Given the description of an element on the screen output the (x, y) to click on. 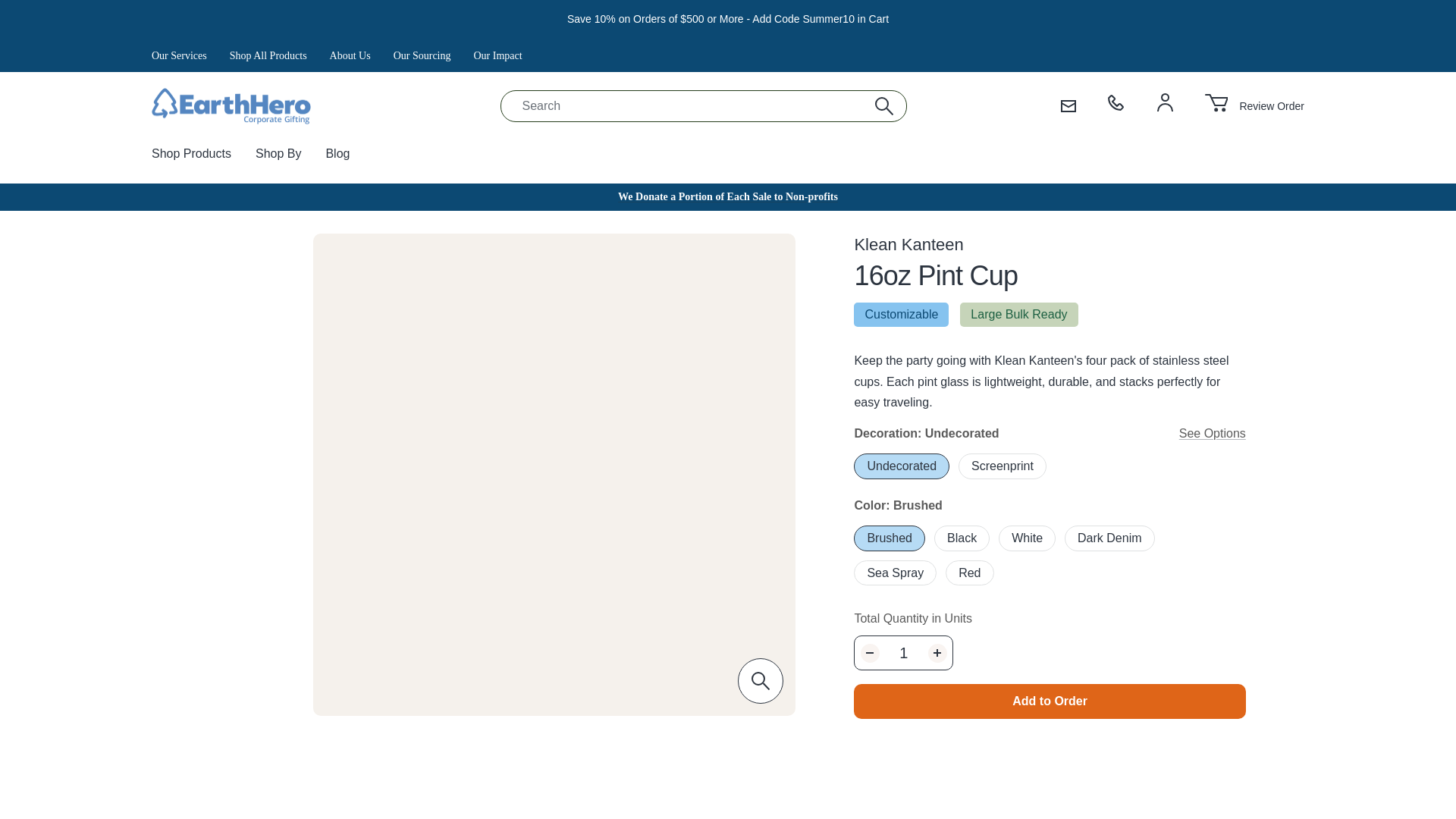
Shop All Products (268, 55)
Blog (336, 153)
Our Impact (497, 55)
Review Order (1254, 105)
Our Services (178, 55)
About Us (350, 55)
We Donate a Portion of Each Sale to Non-profits (727, 196)
1 (903, 652)
EarthHero Corporate Gifting (231, 106)
